Given the description of an element on the screen output the (x, y) to click on. 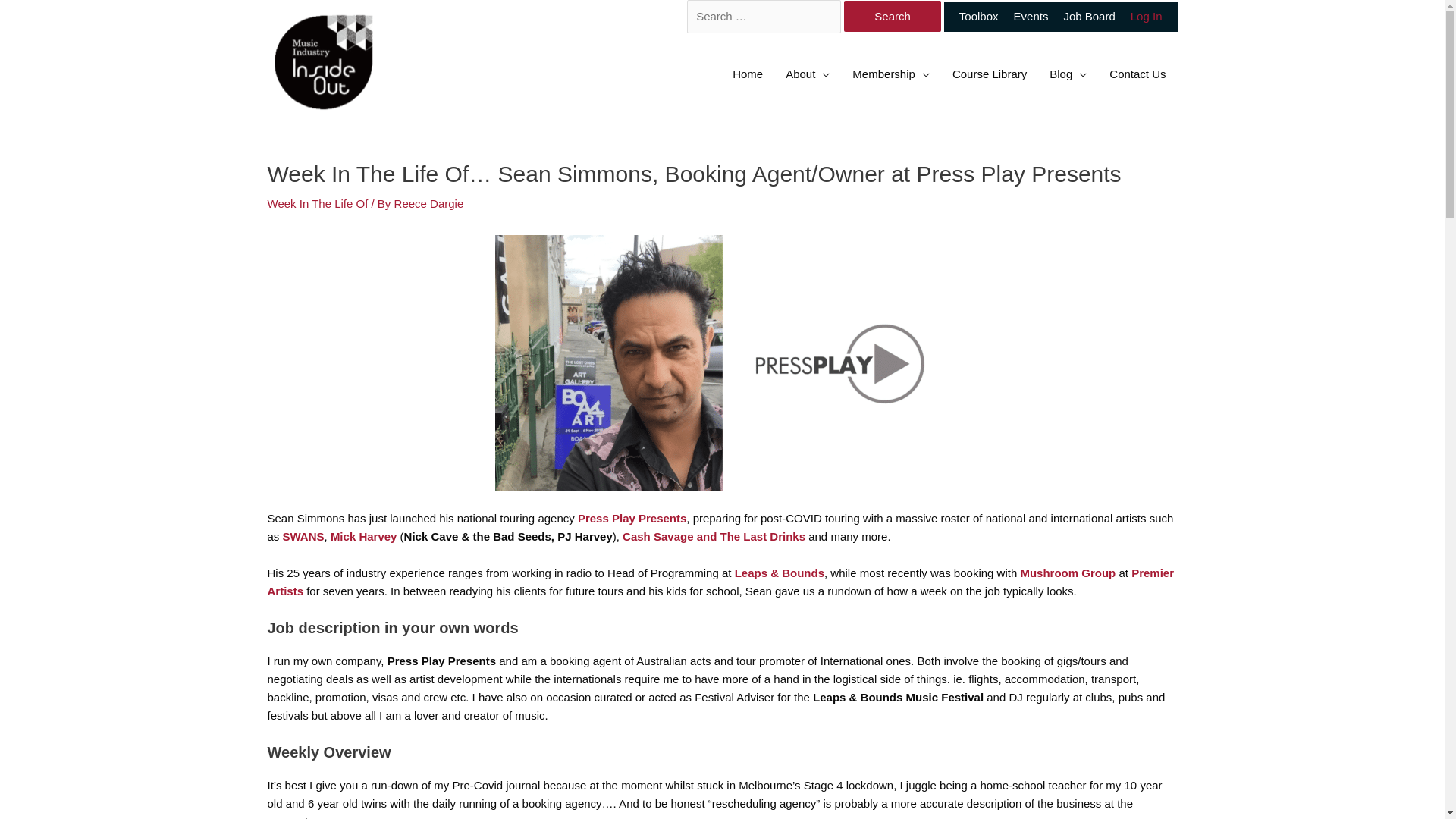
Log In Element type: text (1146, 15)
Course Library Element type: text (989, 74)
Contact Us Element type: text (1137, 74)
Toolbox Element type: text (971, 16)
About Element type: text (807, 74)
Mushroom Group Element type: text (1067, 572)
Cash Savage and The Last Drinks Element type: text (713, 536)
Mick Harvey Element type: text (363, 536)
Membership Element type: text (890, 74)
Blog Element type: text (1068, 74)
Home Element type: text (747, 74)
Press Play Presents Element type: text (631, 517)
Week In The Life Of Element type: text (316, 203)
Leaps & Bounds Element type: text (779, 572)
Search Element type: text (892, 15)
Premier Artists Element type: text (719, 581)
SWANS Element type: text (303, 536)
Reece Dargie Element type: text (429, 203)
Job Board Element type: text (1088, 16)
Events Element type: text (1030, 16)
